Given the description of an element on the screen output the (x, y) to click on. 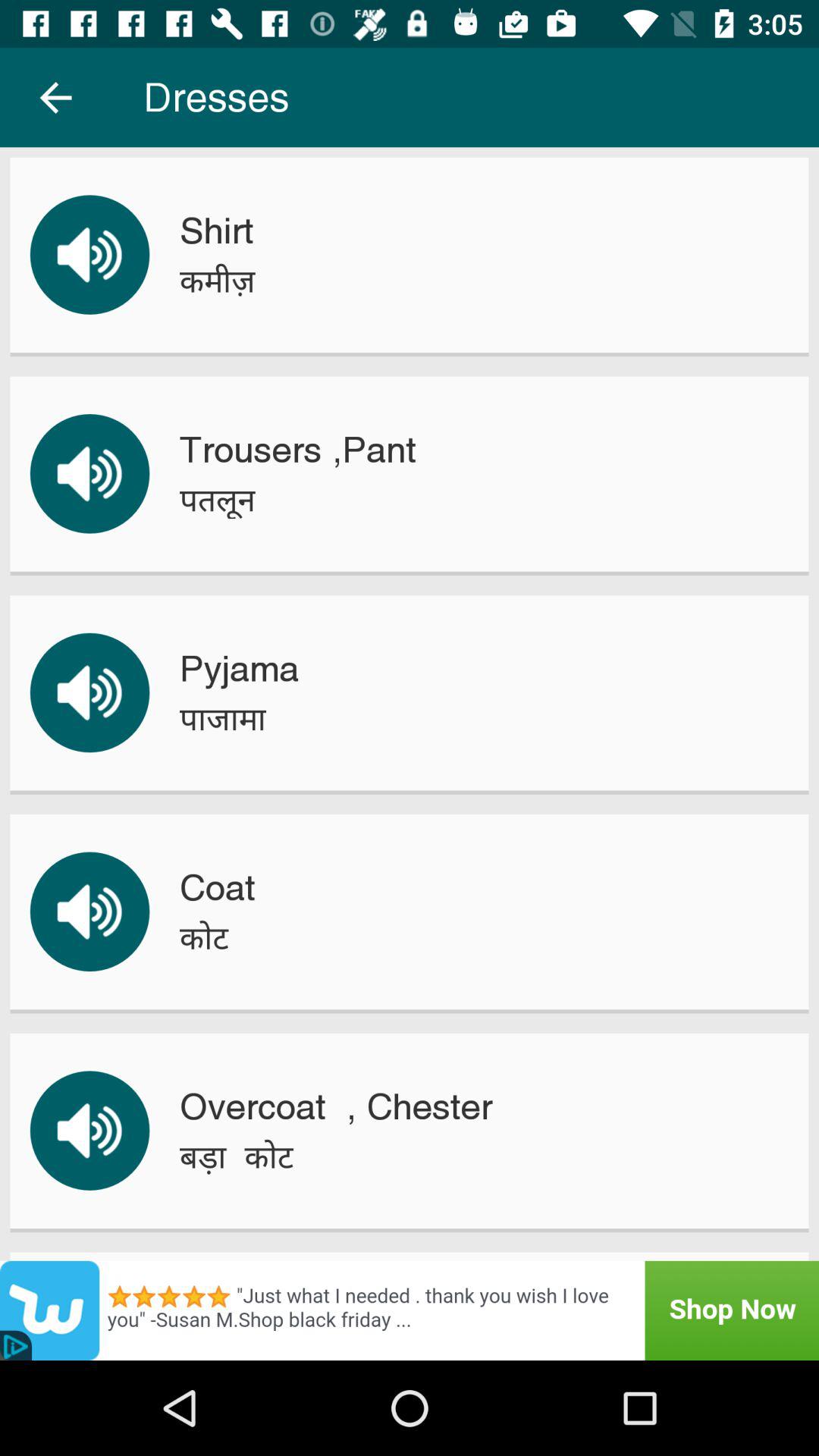
press trousers ,pant (297, 449)
